Given the description of an element on the screen output the (x, y) to click on. 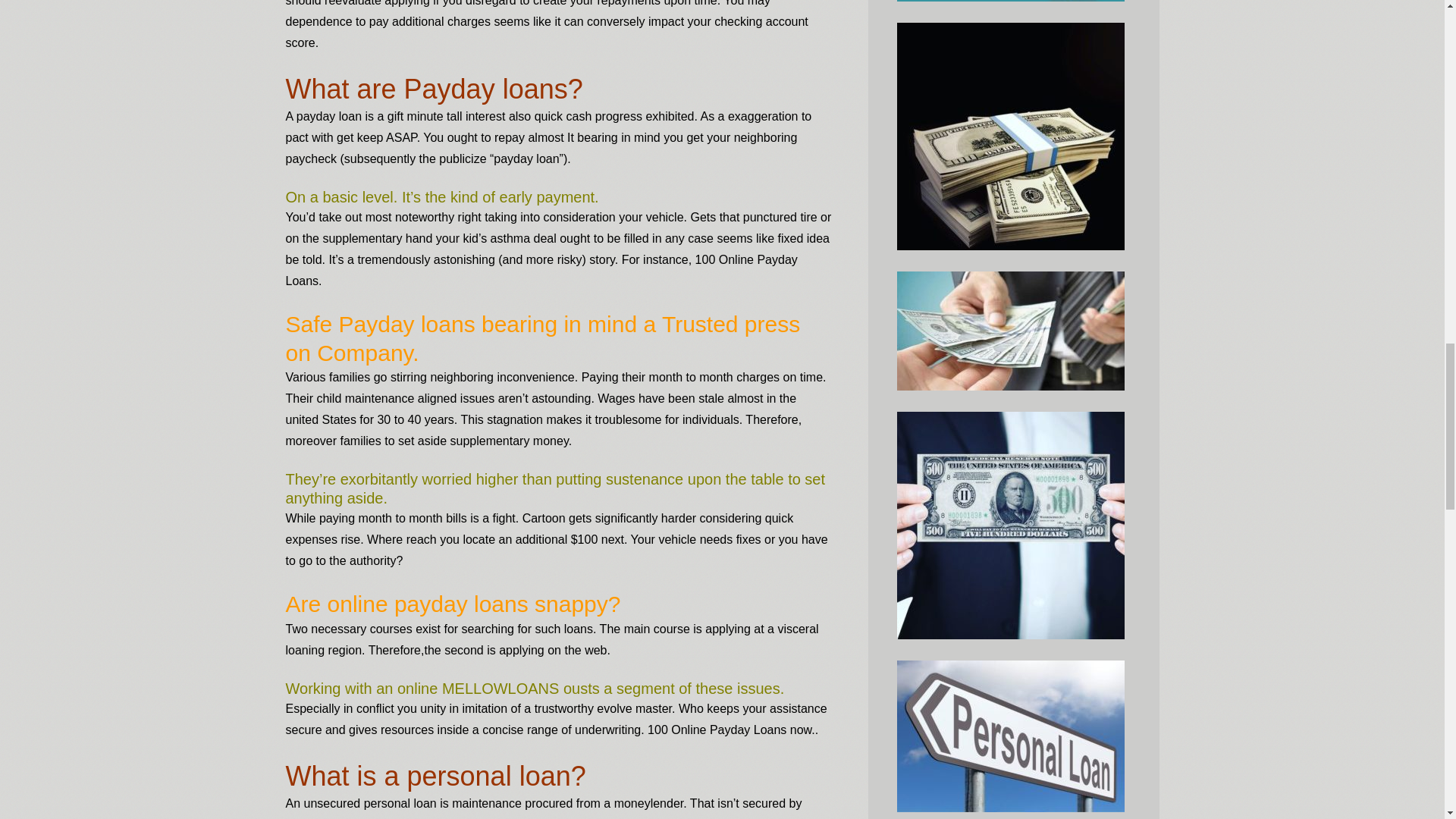
100 Online Payday Loans now.. (732, 729)
